Given the description of an element on the screen output the (x, y) to click on. 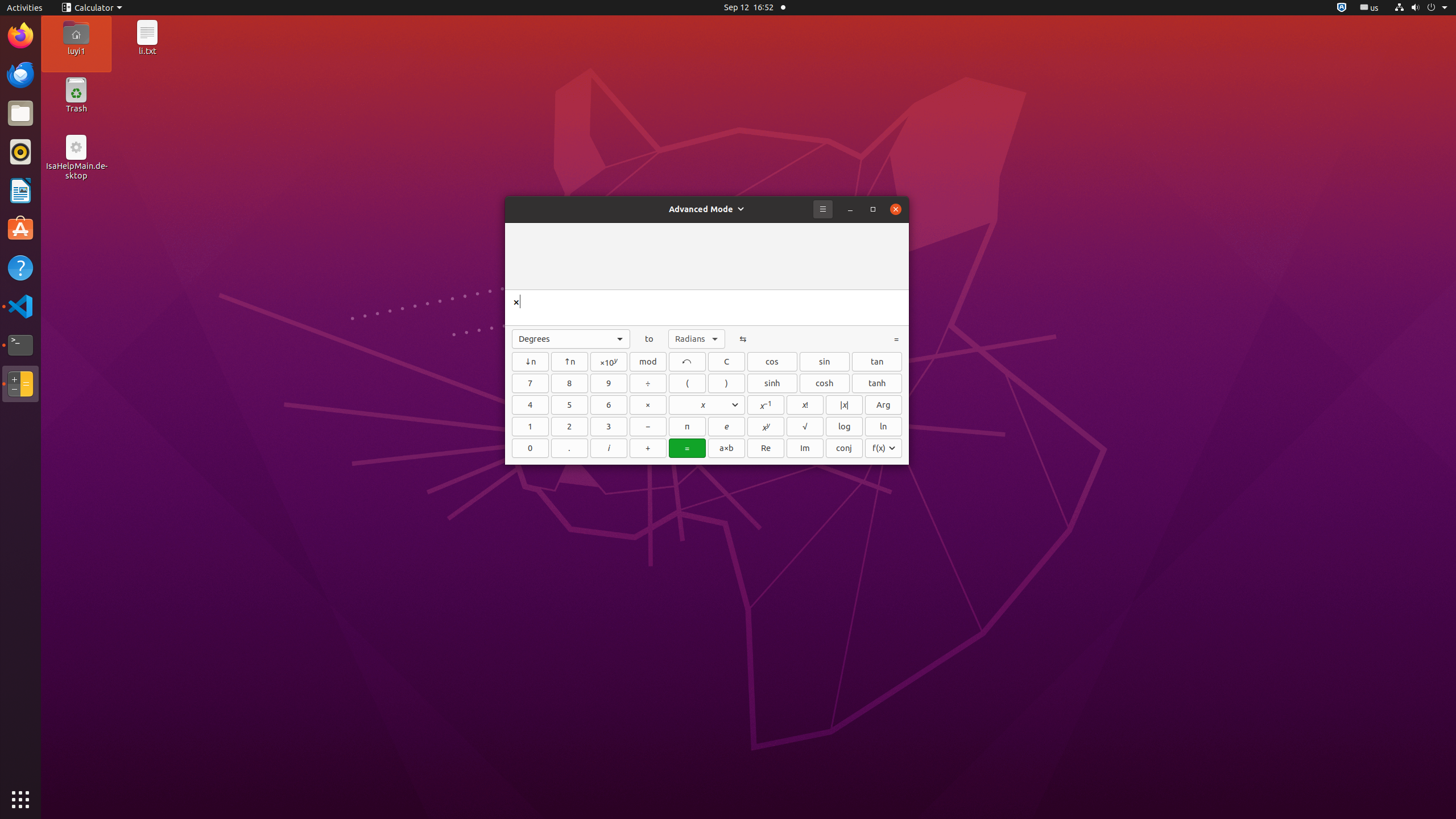
Degrees Element type: combo-box (570, 338)
Calculator Element type: push-button (20, 383)
Firefox Web Browser Element type: push-button (20, 35)
= Element type: push-button (686, 447)
sinh Element type: push-button (772, 383)
